Given the description of an element on the screen output the (x, y) to click on. 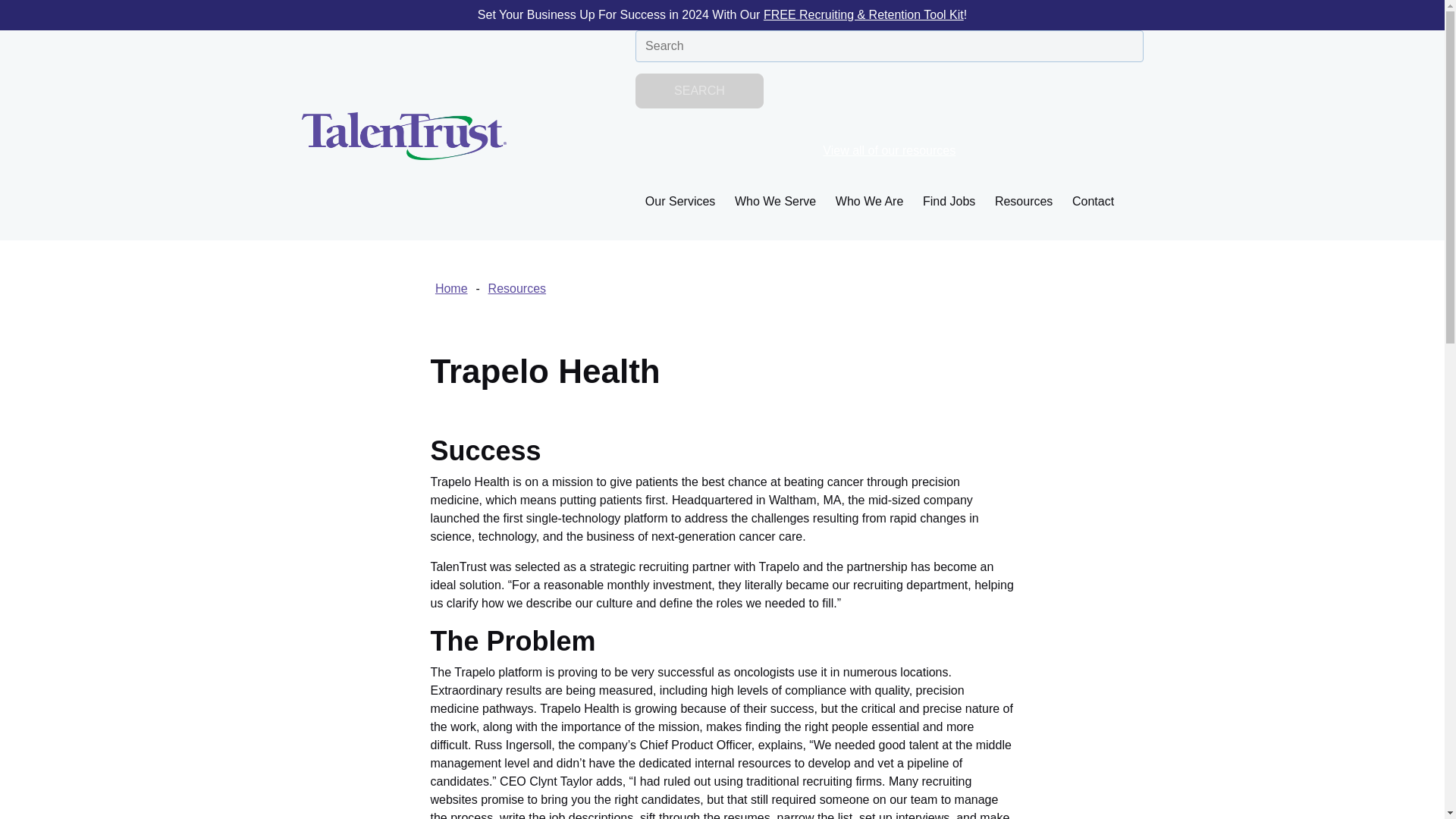
Find Jobs (948, 199)
Talentrust (403, 135)
Our Services (679, 199)
Who We Serve (775, 199)
SEARCH (698, 90)
Who We Are (868, 199)
Resources (1023, 199)
View all of our resources (888, 150)
